Given the description of an element on the screen output the (x, y) to click on. 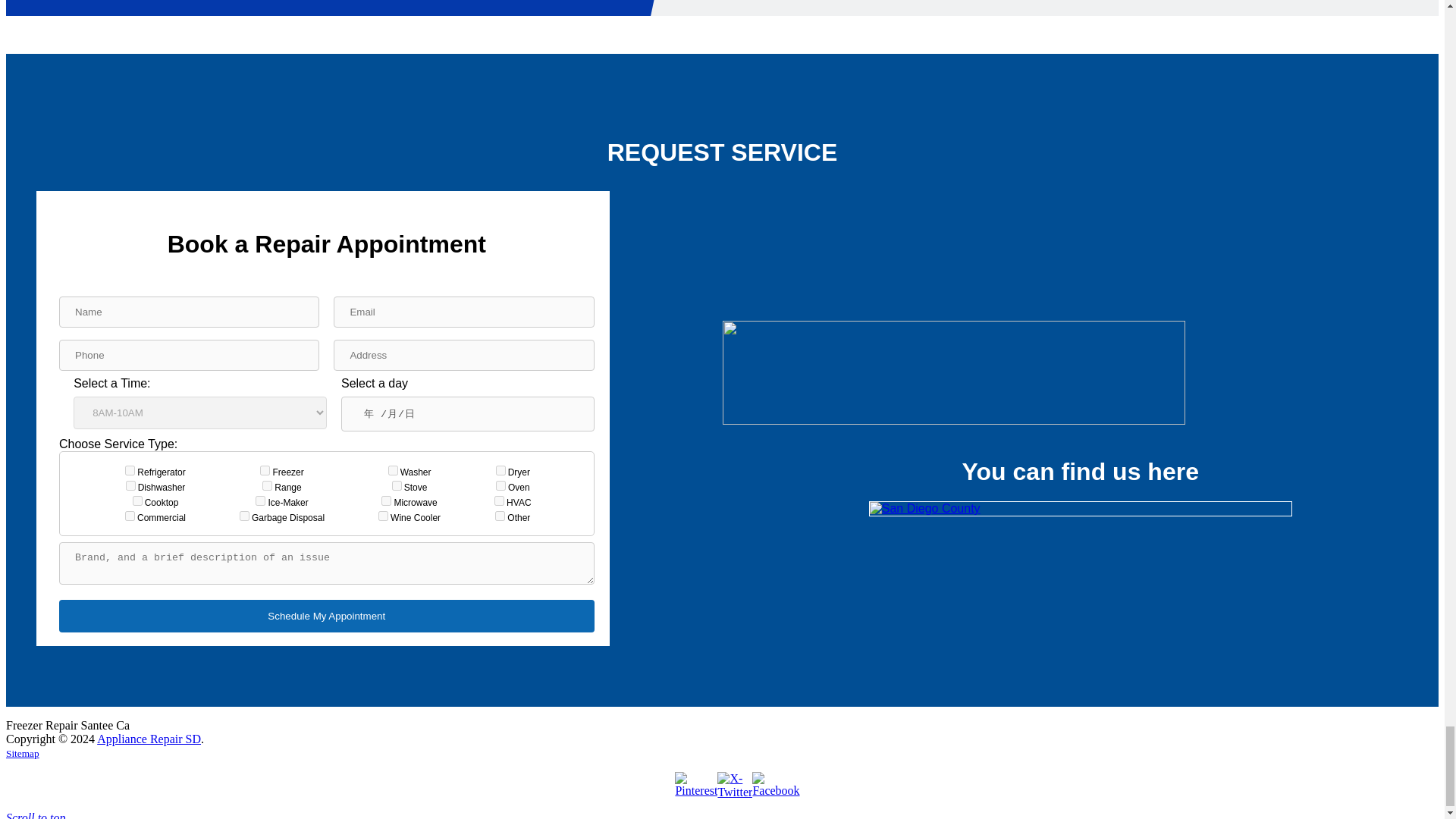
Freezer (264, 470)
Appliance Repair SD (148, 738)
Refrigerator (130, 470)
Range (267, 485)
Washer (392, 470)
Dryer (500, 470)
Ice-Maker (260, 501)
Commercial (130, 515)
Stove (396, 485)
Microwave (386, 501)
Dishwasher (130, 485)
HVAC (499, 501)
Cooktop (137, 501)
Oven (500, 485)
